Given the description of an element on the screen output the (x, y) to click on. 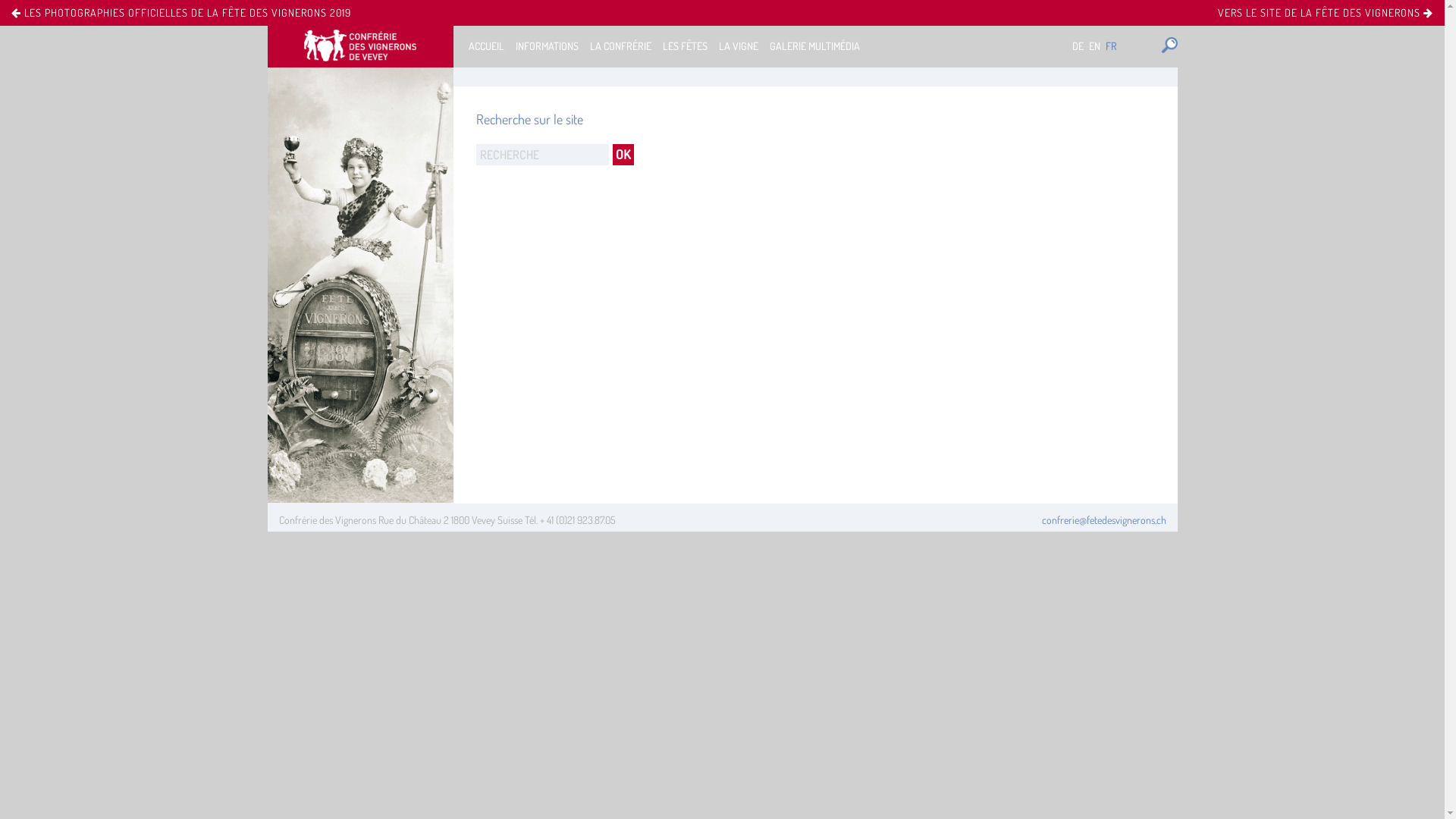
FR Element type: text (1111, 45)
EN Element type: text (1094, 45)
confrerie@fetedesvignerons.ch Element type: text (1103, 519)
LA VIGNE Element type: text (738, 45)
INFORMATIONS Element type: text (546, 45)
ACCUEIL Element type: text (486, 45)
DE Element type: text (1077, 45)
